Given the description of an element on the screen output the (x, y) to click on. 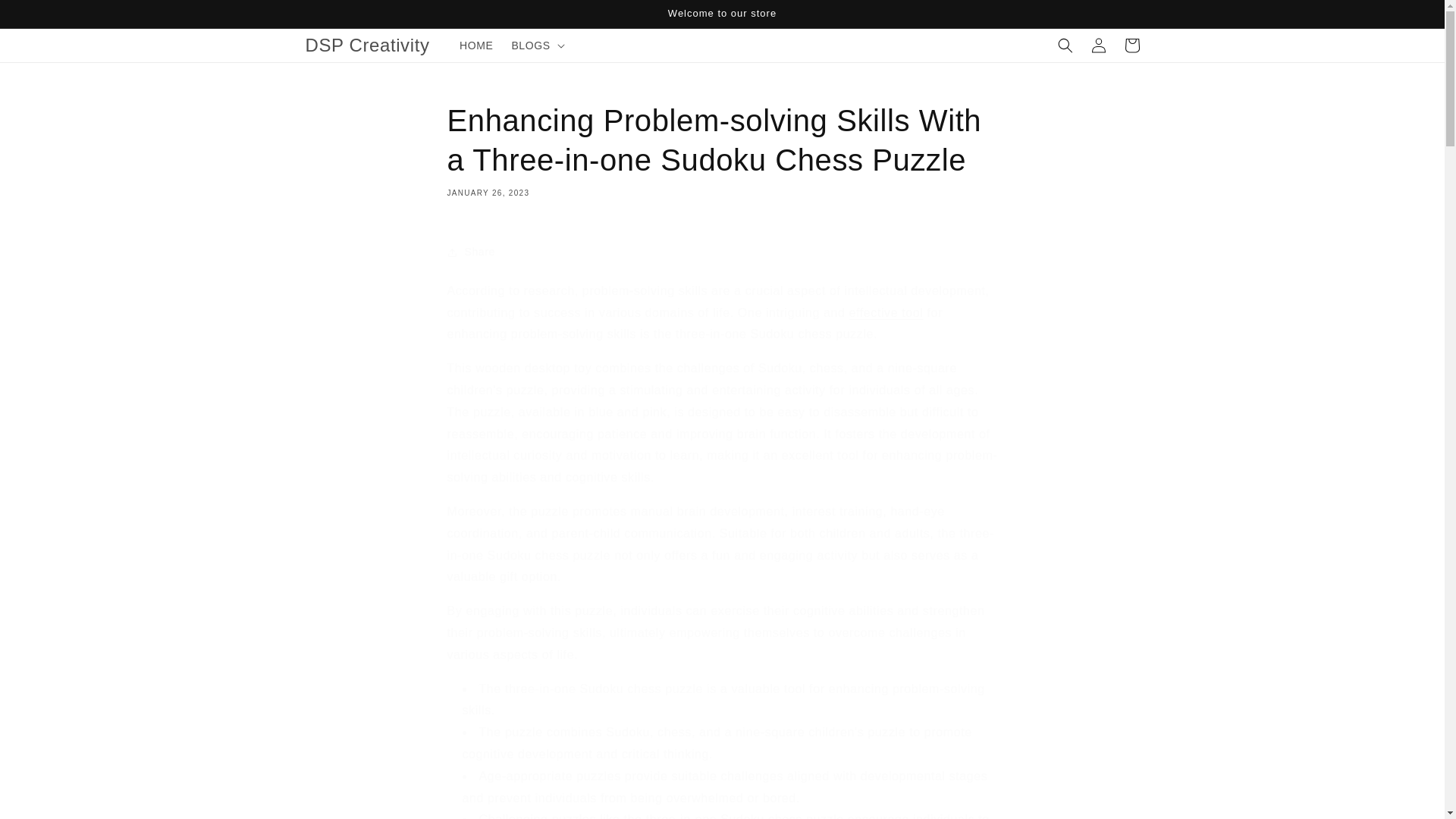
Log in (1098, 45)
Cart (1131, 45)
effective tool (885, 312)
HOME (475, 45)
Share (721, 252)
DSP Creativity (367, 44)
effective tool (885, 312)
Skip to content (45, 17)
